Given the description of an element on the screen output the (x, y) to click on. 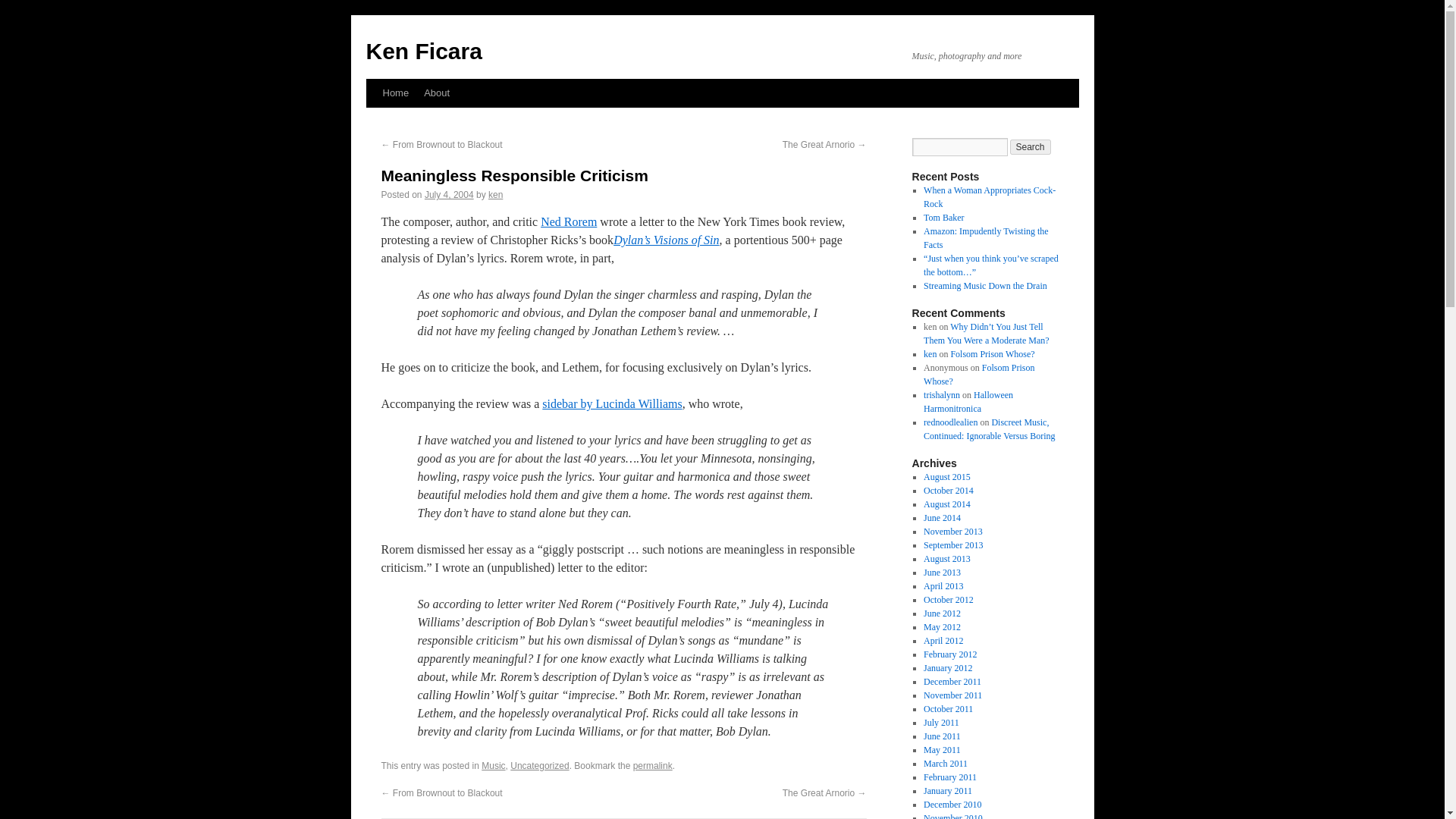
Permalink to Meaningless Responsible Criticism (652, 765)
Streaming Music Down the Drain (984, 285)
Uncategorized (540, 765)
When a Woman Appropriates Cock-Rock (989, 197)
August 2013 (947, 558)
July 4, 2004 (449, 194)
November 2013 (952, 531)
ken (929, 353)
ken (494, 194)
10:24 (449, 194)
